Given the description of an element on the screen output the (x, y) to click on. 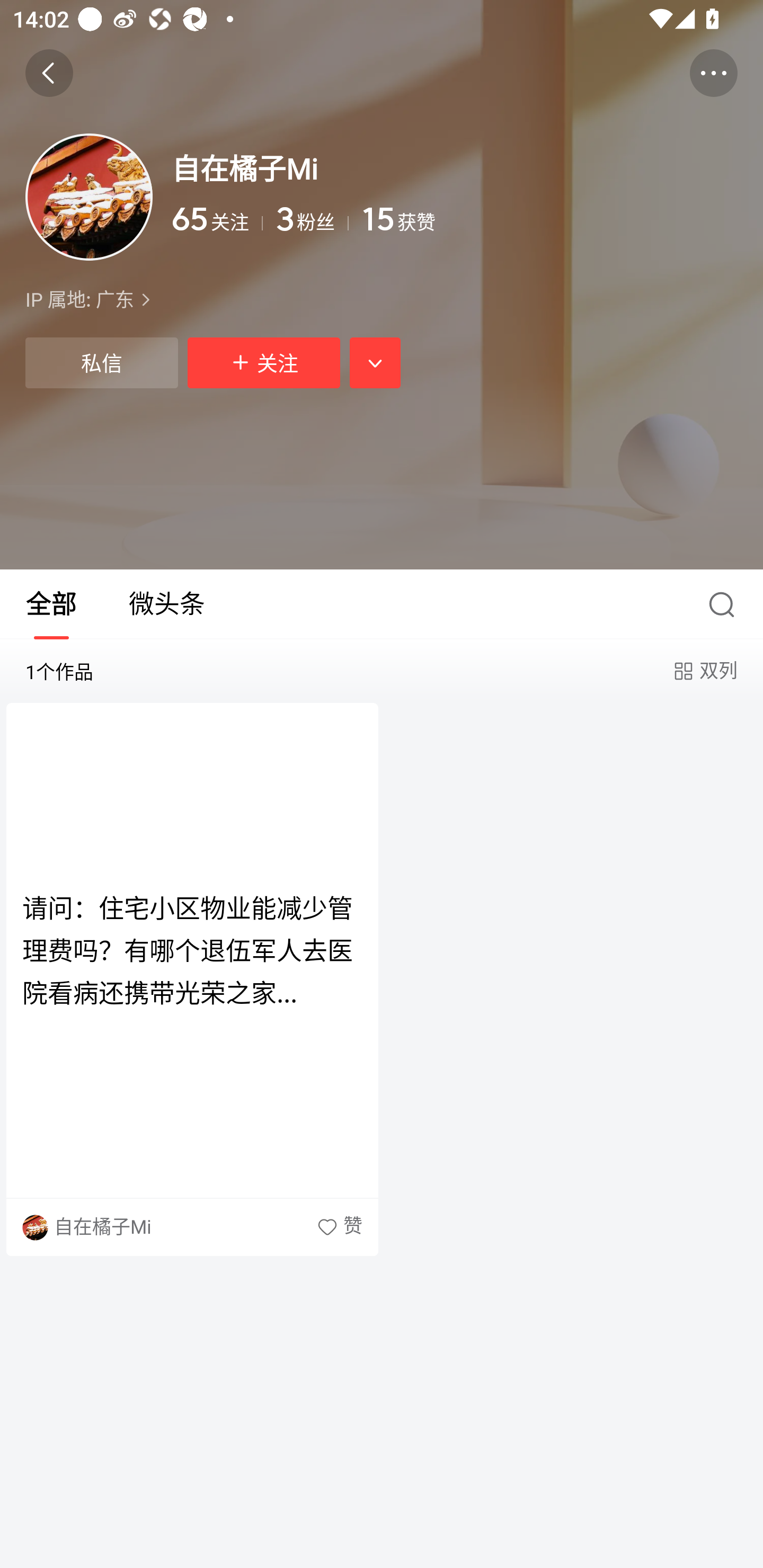
返回 (49, 72)
更多操作 (713, 72)
头像 (88, 196)
65 关注 (216, 219)
3 粉丝 (311, 219)
15 获赞 (549, 219)
IP 属地: 广东 (381, 298)
私信 (101, 362)
     关注 (263, 362)
展开相关推荐，按钮 (374, 362)
全部 (51, 604)
微头条 (167, 604)
搜索 (726, 604)
双列 当前双列点按切换至单列 (703, 670)
